Given the description of an element on the screen output the (x, y) to click on. 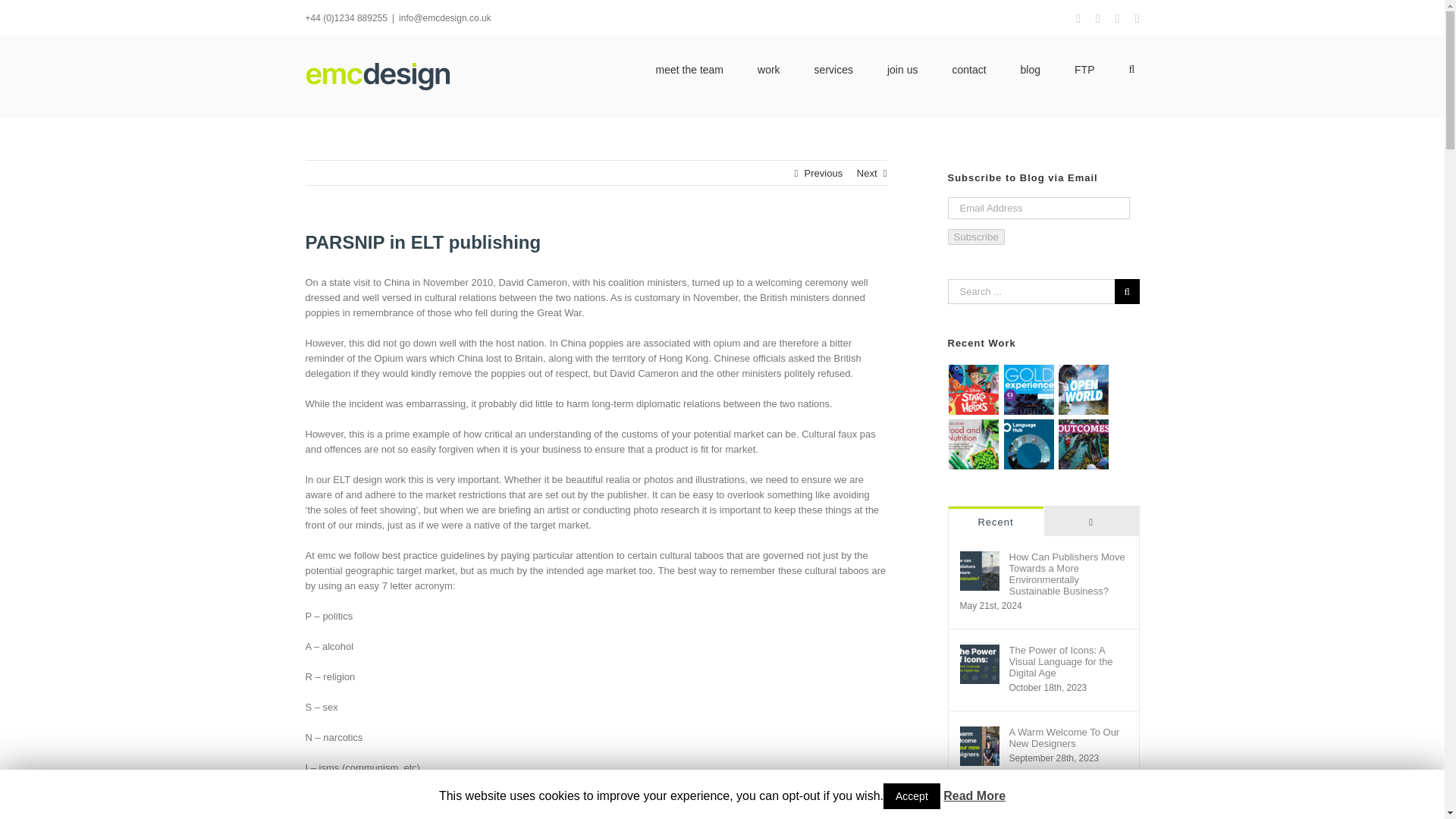
meet the team (689, 68)
My Disney Stars and Heroes (973, 389)
GCSE Food (973, 443)
Open World (1083, 389)
Gold (1028, 389)
